Given the description of an element on the screen output the (x, y) to click on. 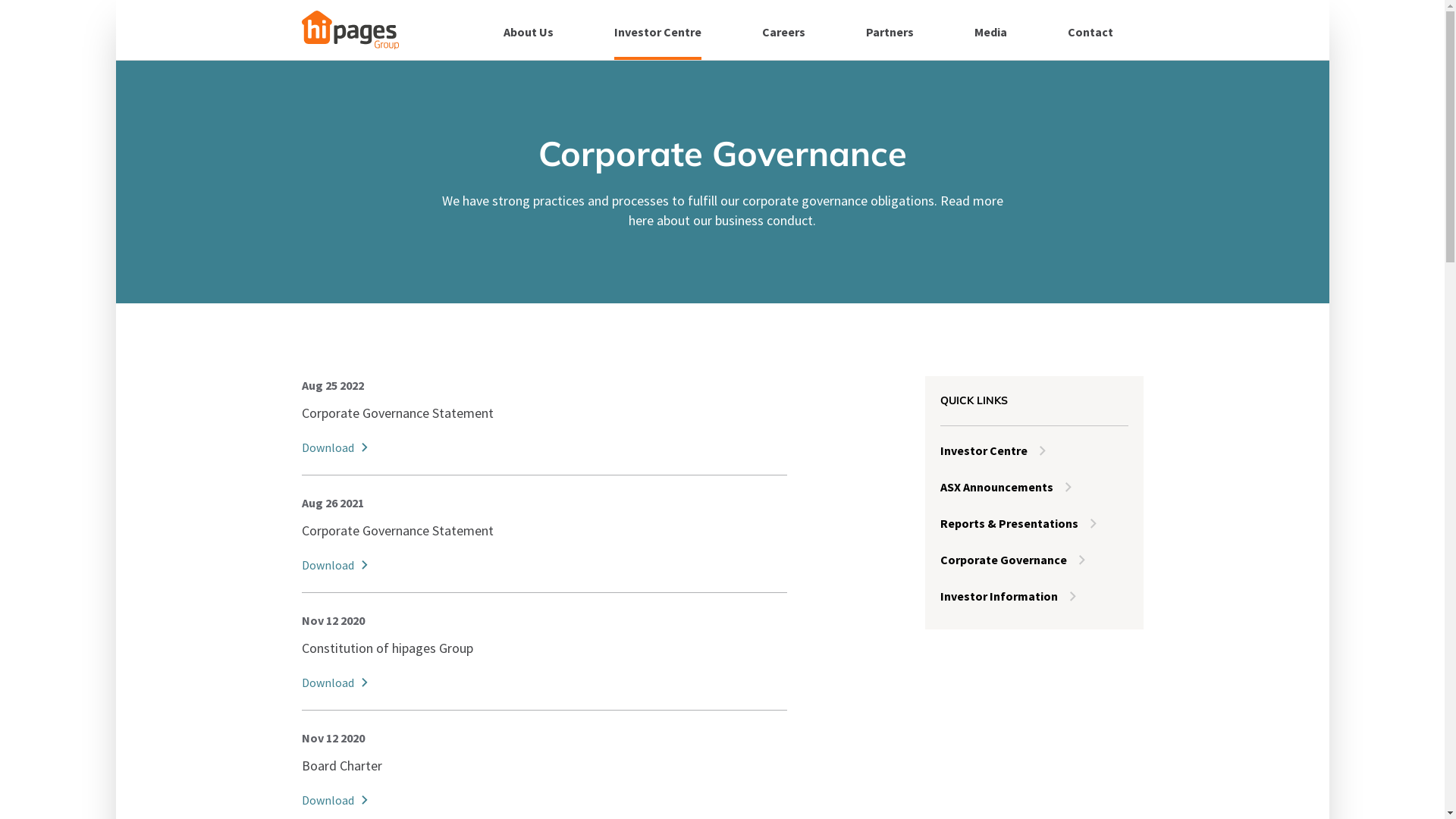
Contact Element type: text (1090, 29)
Careers Element type: text (782, 29)
Investor Centre Element type: text (1034, 450)
Investor Information Element type: text (1034, 595)
ASX Announcements Element type: text (1034, 486)
Download Element type: text (544, 682)
Download Element type: text (544, 564)
Corporate Governance Element type: text (1034, 559)
About Us Element type: text (528, 29)
Investor Centre Element type: text (657, 29)
Reports & Presentations Element type: text (1034, 523)
Download Element type: text (544, 447)
Partners Element type: text (889, 29)
Media Element type: text (989, 29)
Download Element type: text (544, 799)
